Given the description of an element on the screen output the (x, y) to click on. 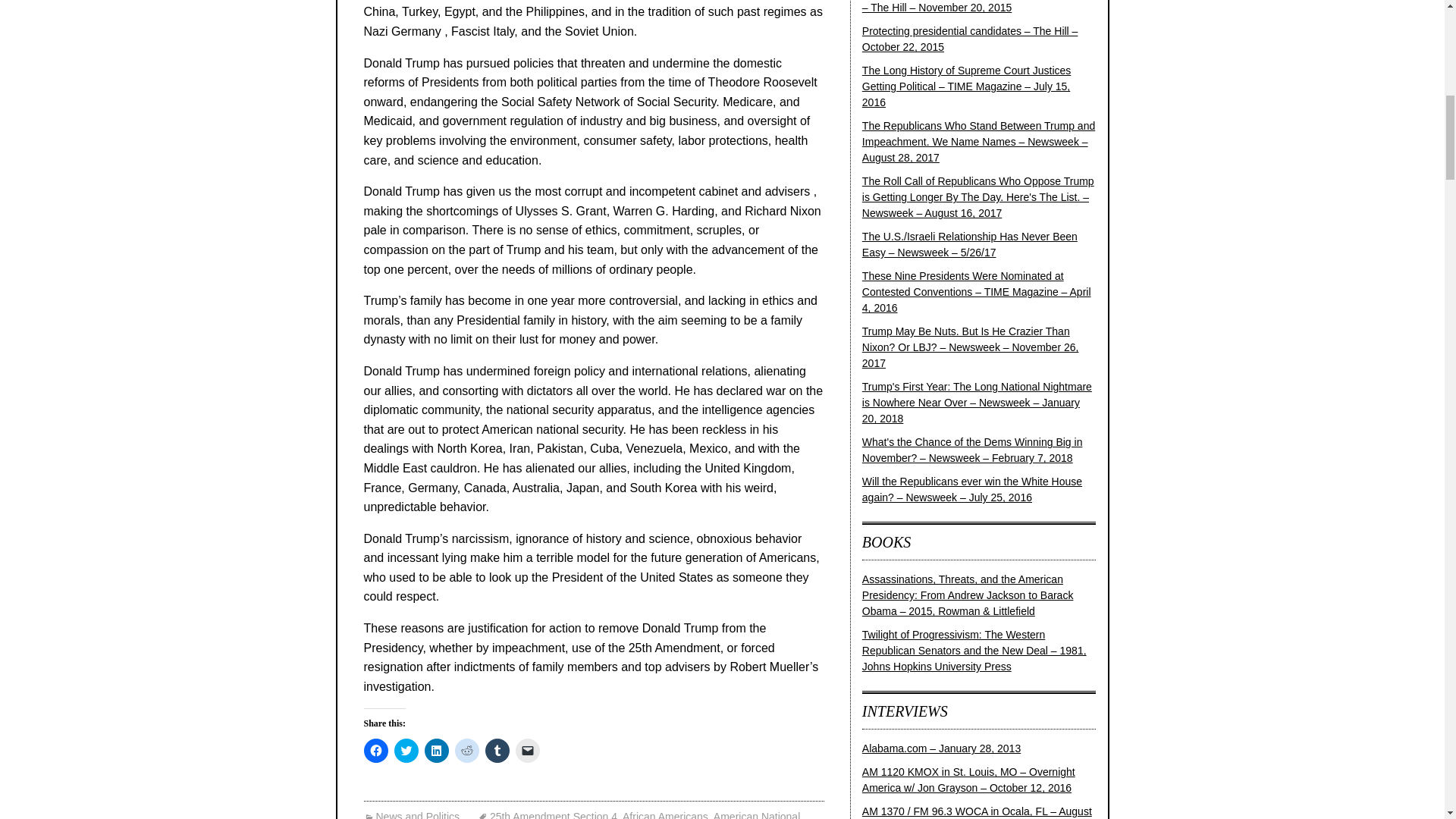
Click to share on Twitter (406, 750)
Click to share on Facebook (376, 750)
Click to share on Reddit (466, 750)
African Americans (665, 814)
Click to email a link to a friend (527, 750)
Click to share on LinkedIn (436, 750)
Click to share on Tumblr (496, 750)
25th Amendment Section 4 (547, 814)
American National Security (582, 814)
News and Politics (412, 814)
